Given the description of an element on the screen output the (x, y) to click on. 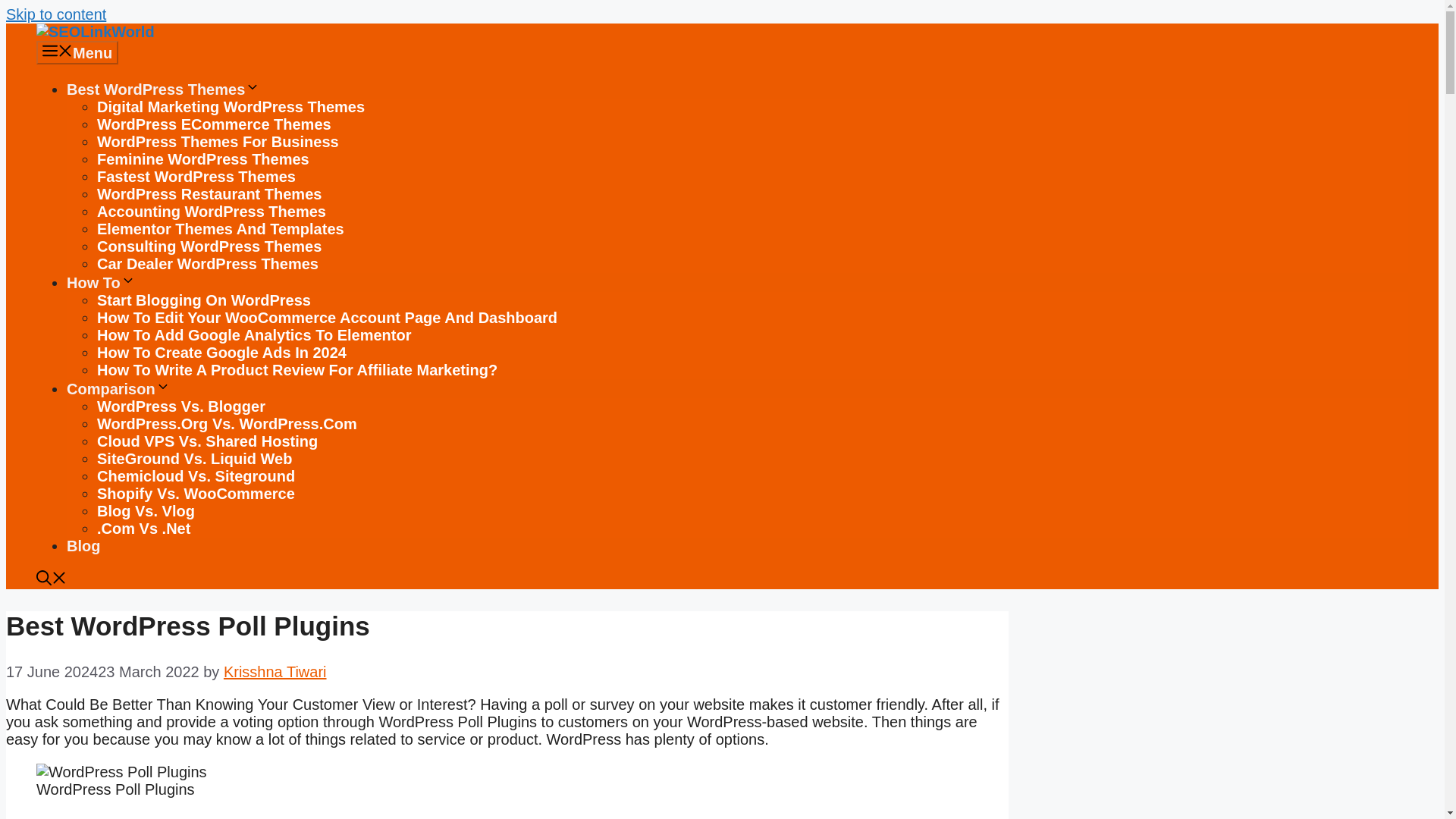
Skip to content (55, 13)
WordPress Restaurant Themes (209, 193)
Blog Vs. Vlog (146, 510)
Menu (76, 52)
SEOLinkWorld (95, 31)
WordPress ECommerce Themes (214, 124)
Shopify Vs. WooCommerce (196, 493)
Consulting WordPress Themes (209, 246)
Blog (83, 545)
Elementor Themes And Templates (220, 228)
